Given the description of an element on the screen output the (x, y) to click on. 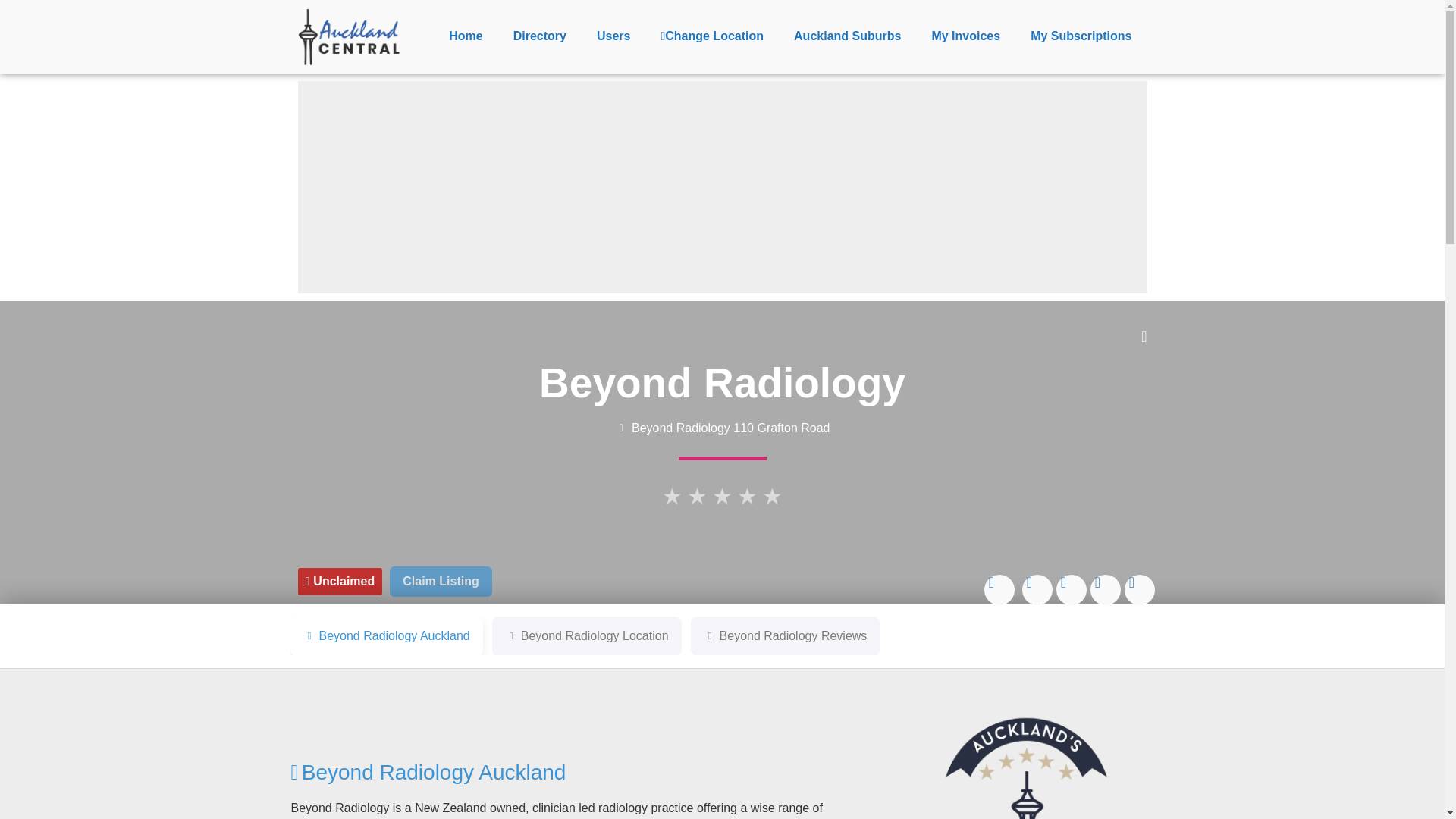
Add to Favourites (1144, 336)
Beyond Radiology Reviews (785, 636)
Beyond Radiology Location (586, 636)
Beyond Radiology Auckland (428, 771)
Beyond Radiology Auckland (385, 636)
Beyond Radiology Auckland (385, 636)
Users (612, 36)
My Subscriptions (1080, 36)
Auckland Central Logo 1 (350, 36)
My Invoices (964, 36)
Beyond Radiology Reviews (785, 636)
Home (465, 36)
Auckland Suburbs (846, 36)
Directory (538, 36)
Claim Listing (441, 581)
